Given the description of an element on the screen output the (x, y) to click on. 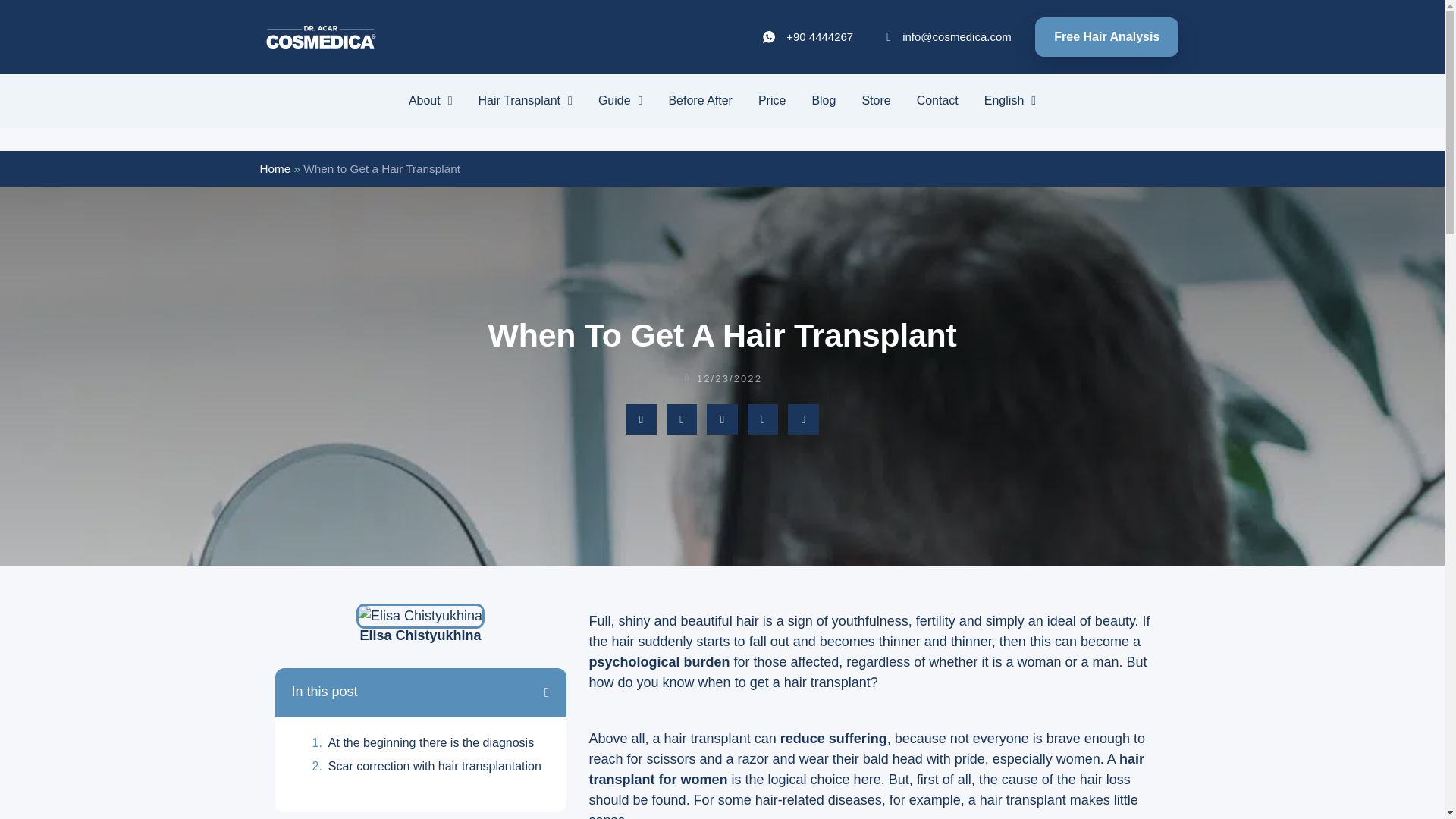
Blog (822, 100)
Price (772, 100)
Hair Transplant (525, 100)
Logo.svg (320, 36)
Contact (937, 100)
About (430, 100)
Free Hair Analysis (1106, 36)
Store (875, 100)
Guide (620, 100)
Before After (700, 100)
